Given the description of an element on the screen output the (x, y) to click on. 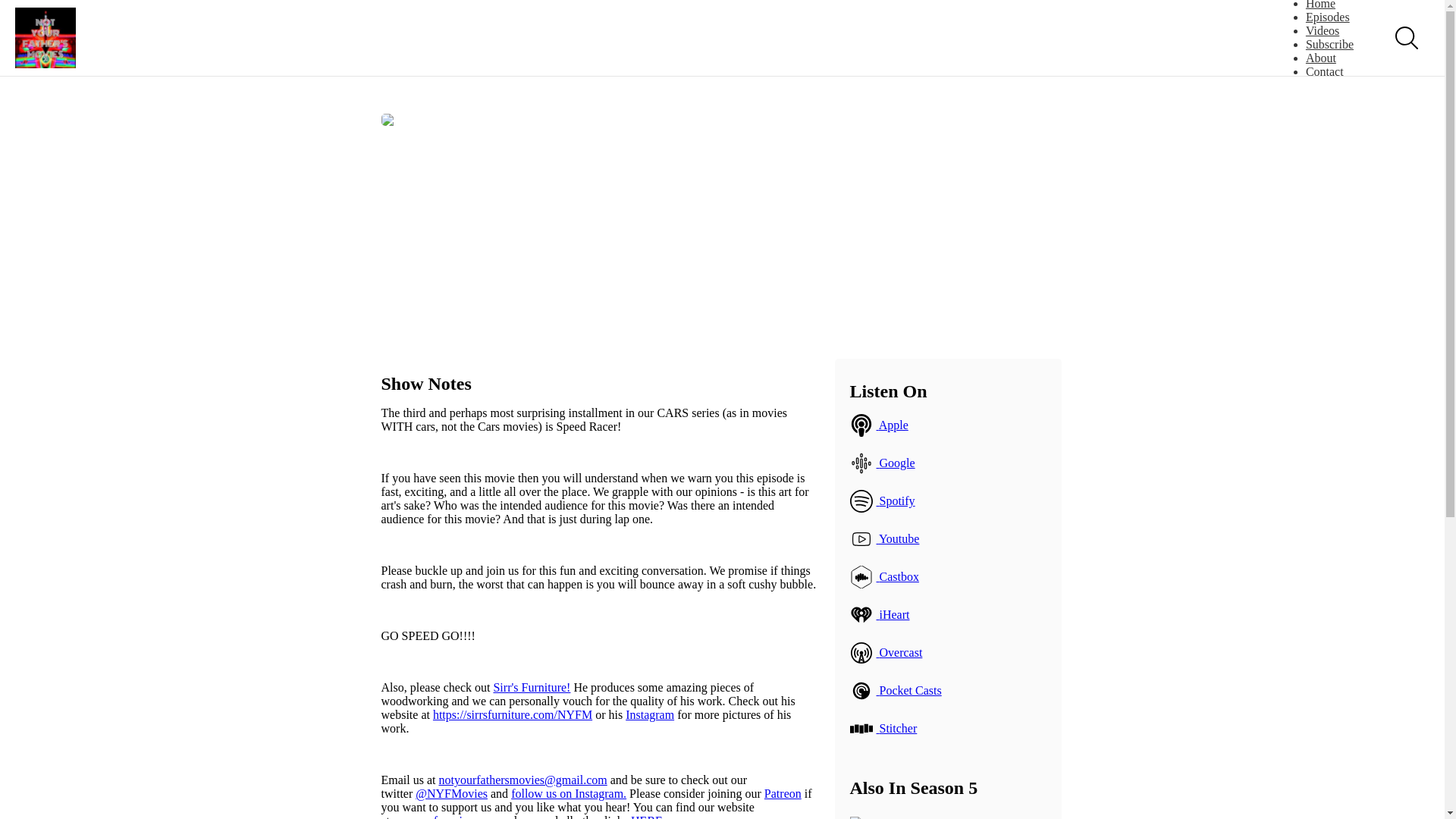
Videos (1322, 30)
HERE (646, 816)
Spotify (947, 500)
Play Episode (685, 223)
Patreon (783, 793)
Episodes (1327, 16)
Download (859, 277)
www.nyfmovies.com (444, 816)
Contact (1324, 71)
Sirr's Furniture! (531, 686)
